Given the description of an element on the screen output the (x, y) to click on. 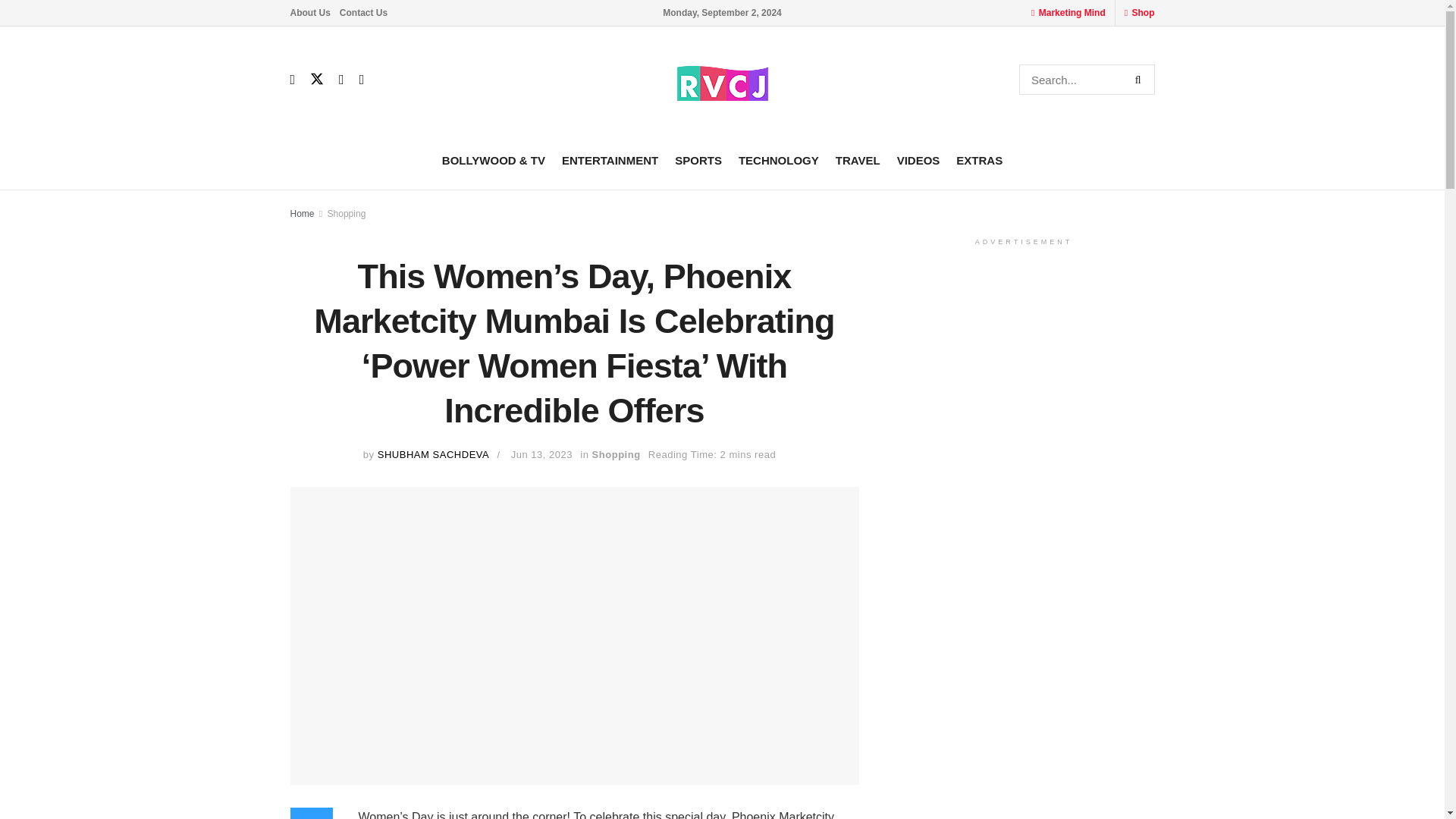
TECHNOLOGY (778, 160)
Contact Us (363, 12)
VIDEOS (918, 160)
Home (301, 213)
ENTERTAINMENT (610, 160)
About Us (309, 12)
SPORTS (698, 160)
TRAVEL (857, 160)
EXTRAS (979, 160)
SHUBHAM SACHDEVA (433, 454)
